Given the description of an element on the screen output the (x, y) to click on. 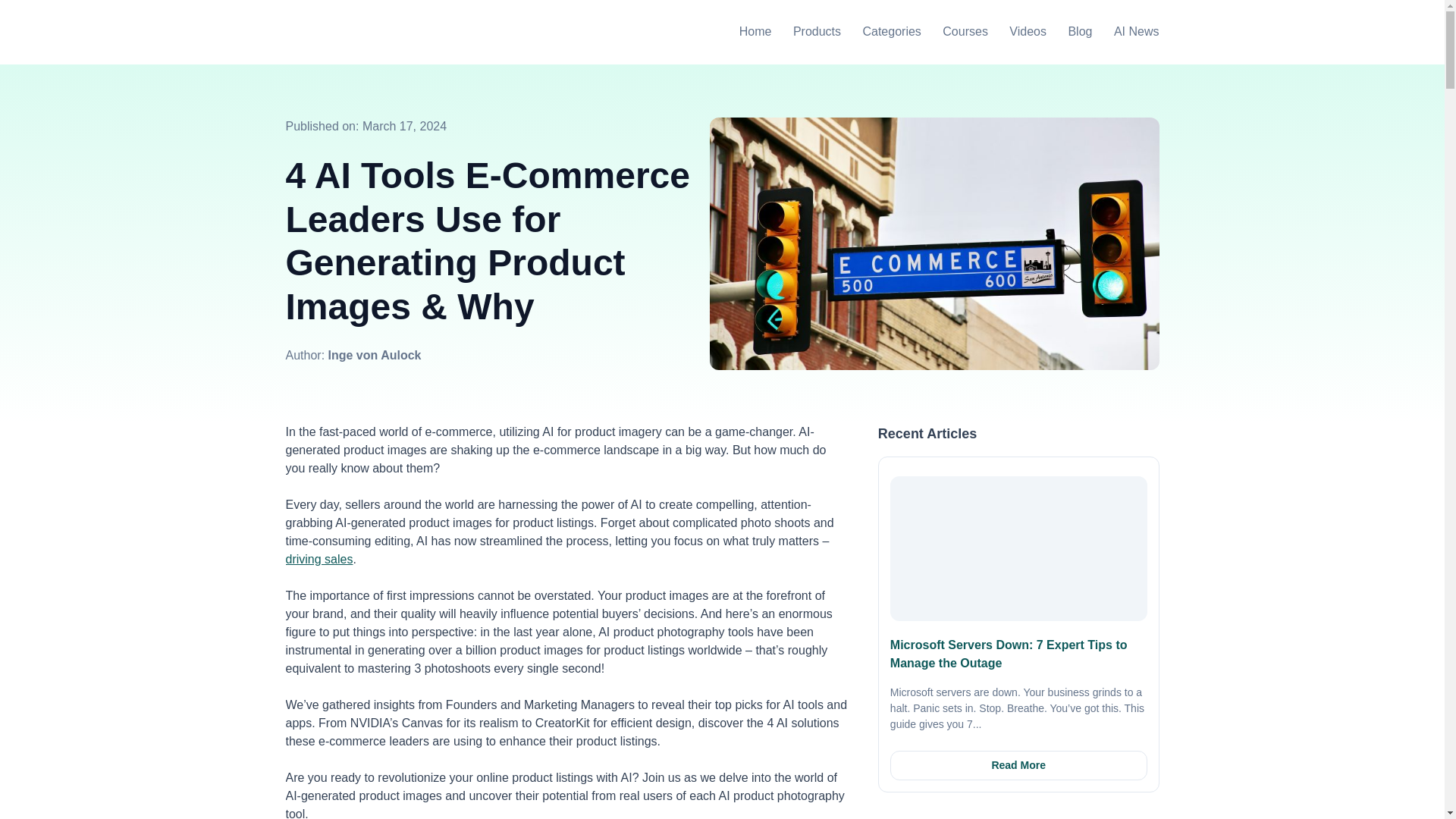
AI News (1135, 32)
Courses (965, 32)
Microsoft Servers Down: 7 Expert Tips to Manage the Outage (1007, 653)
Videos (1027, 32)
Read More (1018, 765)
Home (755, 32)
Blog (1079, 32)
Categories (890, 32)
Products (817, 32)
driving sales (318, 558)
